Given the description of an element on the screen output the (x, y) to click on. 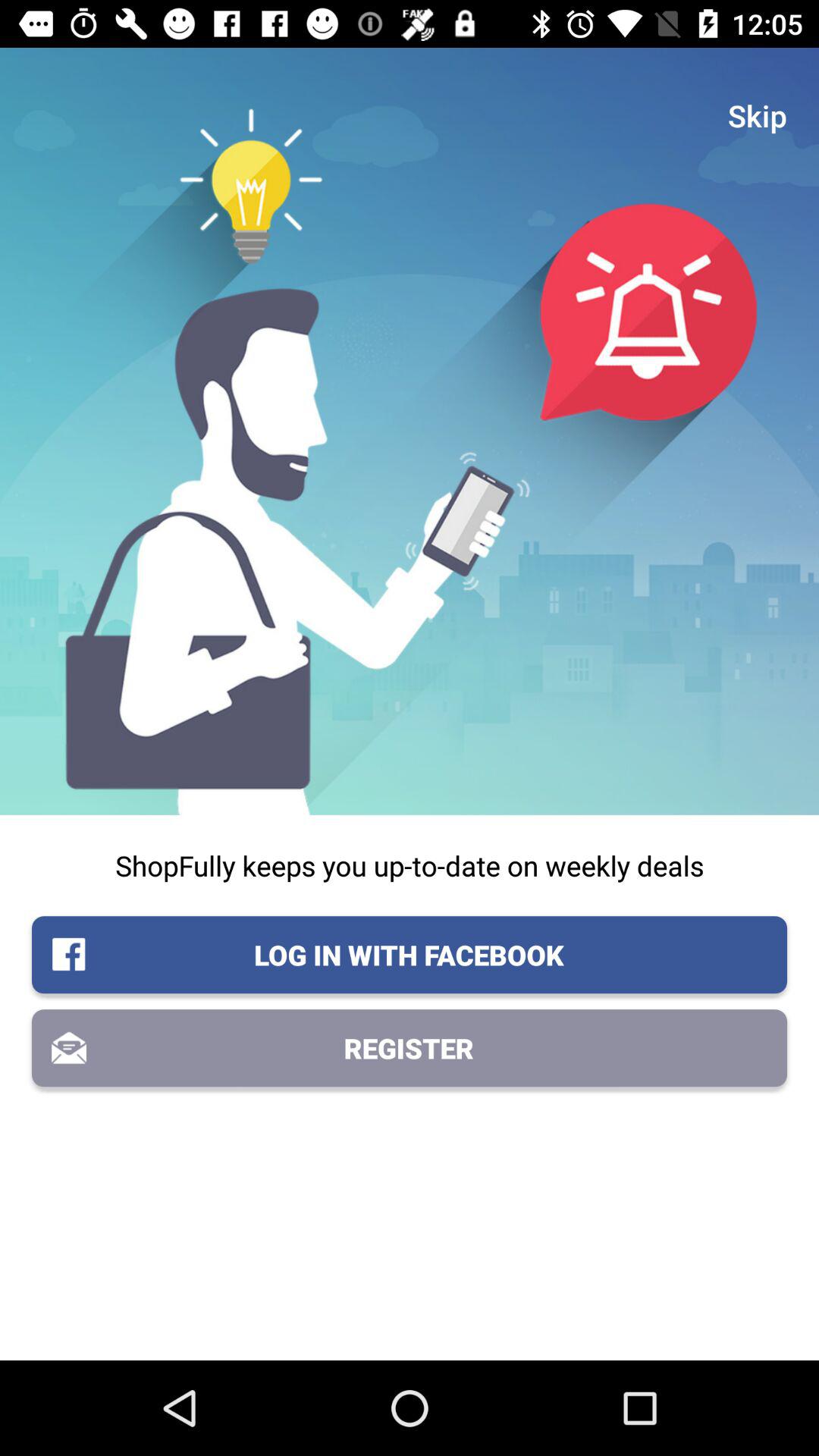
click icon above the log in with (409, 865)
